Given the description of an element on the screen output the (x, y) to click on. 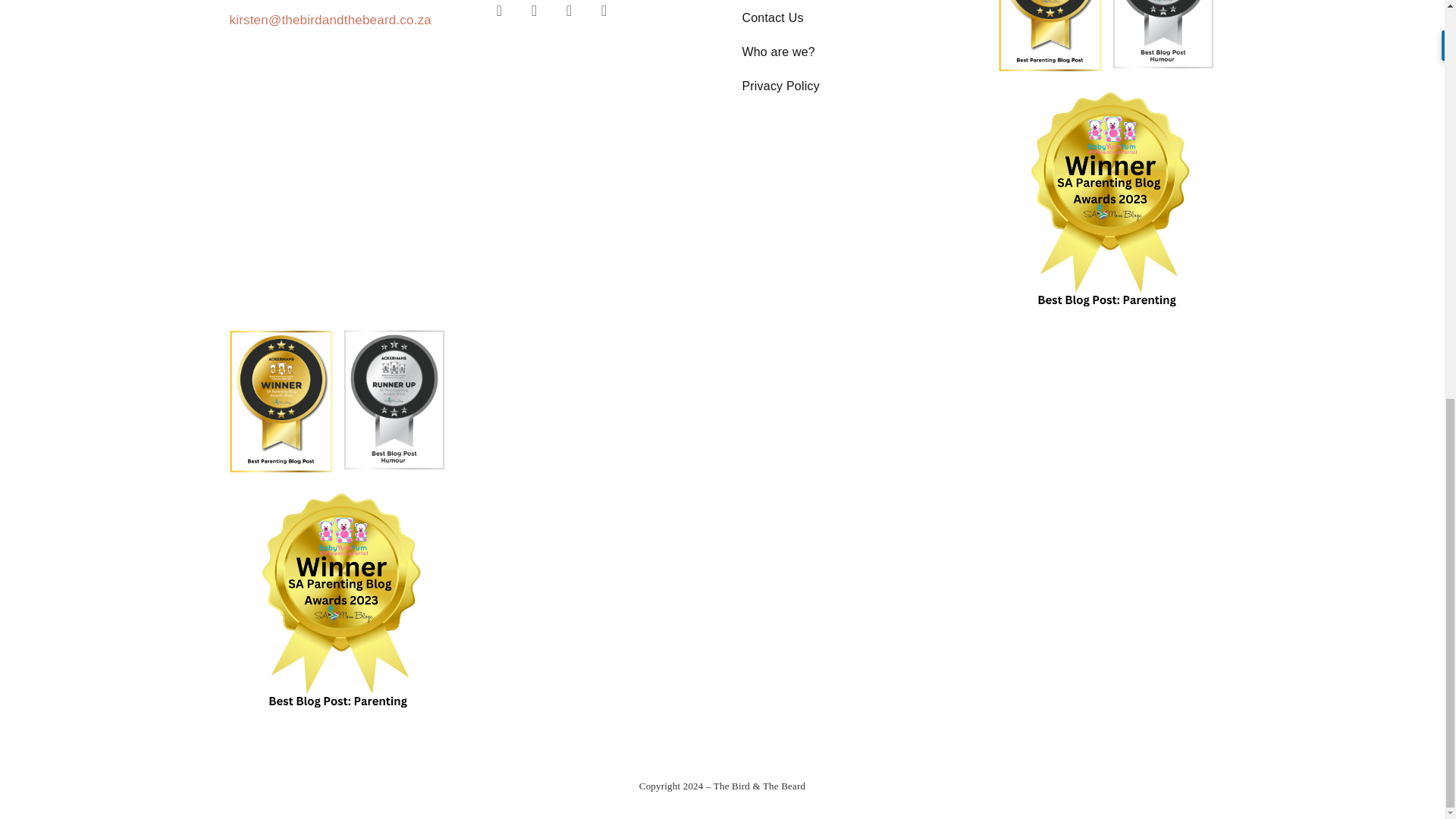
badges-32 (1162, 34)
Badges-08 (1049, 40)
